Given the description of an element on the screen output the (x, y) to click on. 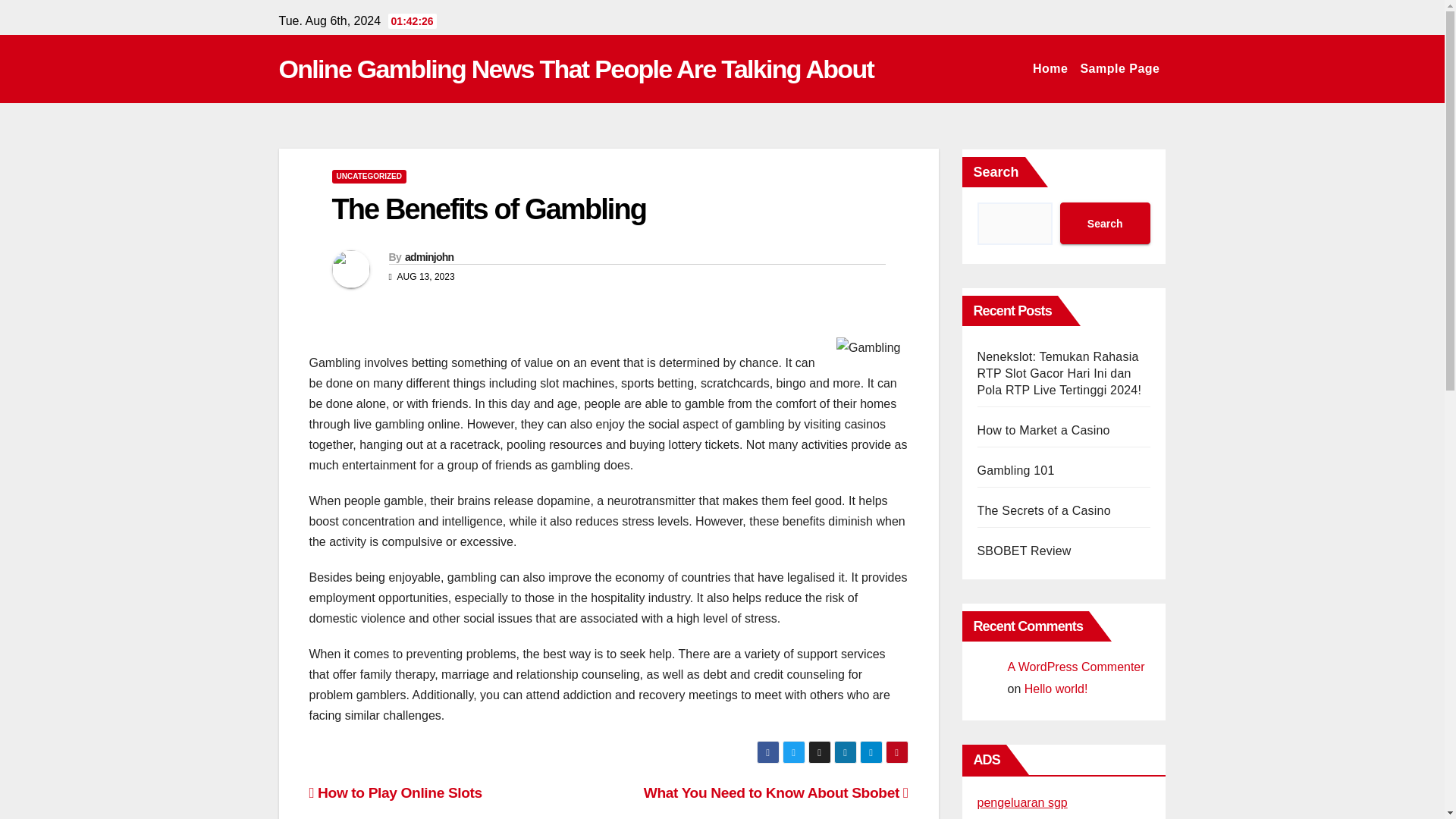
pengeluaran sgp (1021, 802)
Gambling 101 (1015, 470)
The Benefits of Gambling (488, 209)
The Secrets of a Casino (1042, 510)
Search (1104, 223)
Permalink to: The Benefits of Gambling (488, 209)
A WordPress Commenter (1075, 666)
Sample Page (1120, 69)
Online Gambling News That People Are Talking About (577, 68)
Hello world! (1056, 688)
adminjohn (428, 256)
What You Need to Know About Sbobet (775, 792)
How to Market a Casino (1042, 430)
SBOBET Review (1023, 550)
